Given the description of an element on the screen output the (x, y) to click on. 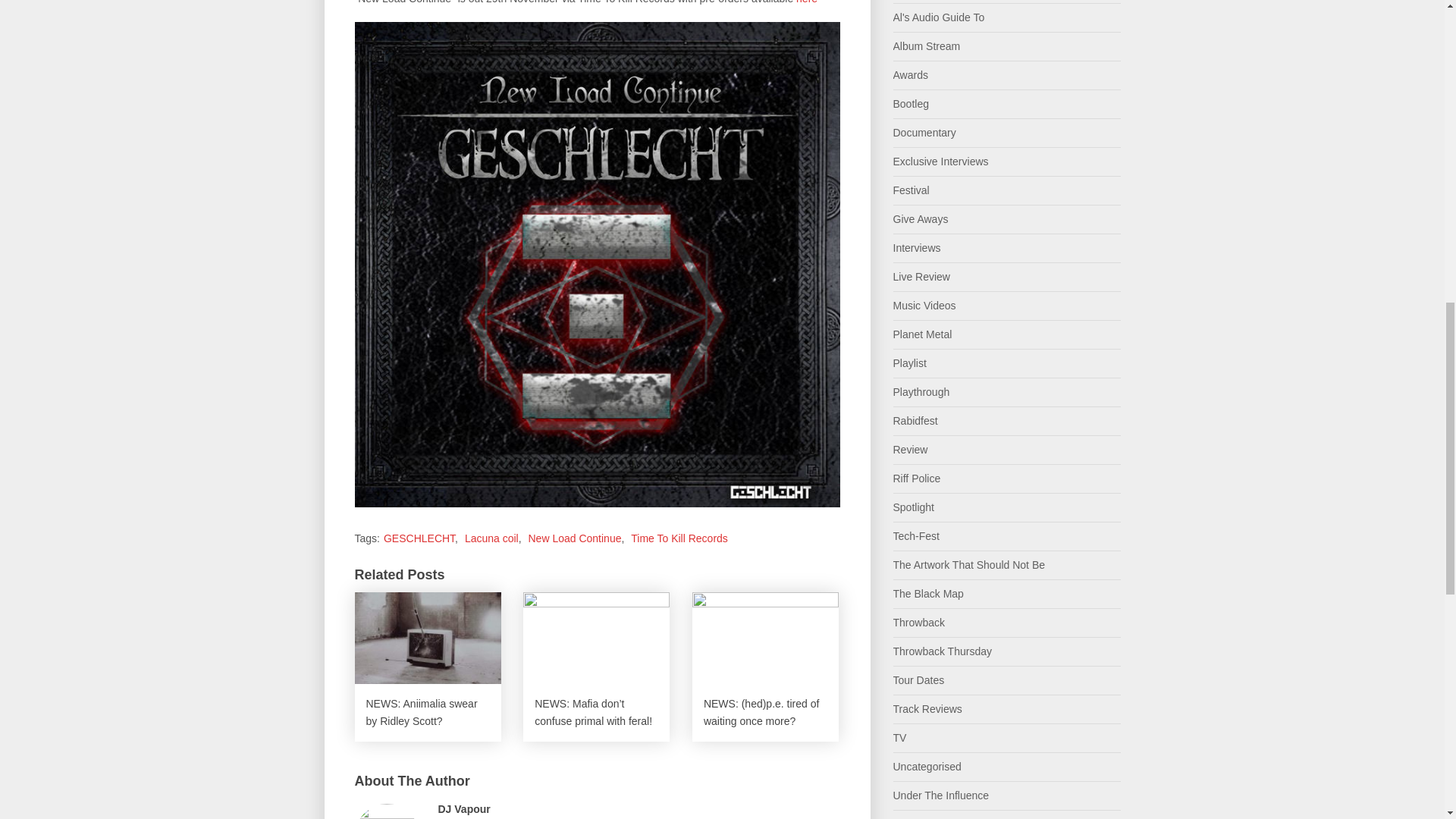
Album Stream (926, 46)
Al's Audio Guide To (939, 17)
Time To Kill Records (679, 538)
New Load Continue (574, 538)
NEWS: Aniimalia swear by Ridley Scott? (427, 667)
GESCHLECHT (419, 538)
NEWS: Aniimalia swear by Ridley Scott? (427, 667)
Lacuna coil (491, 538)
here (806, 2)
